Given the description of an element on the screen output the (x, y) to click on. 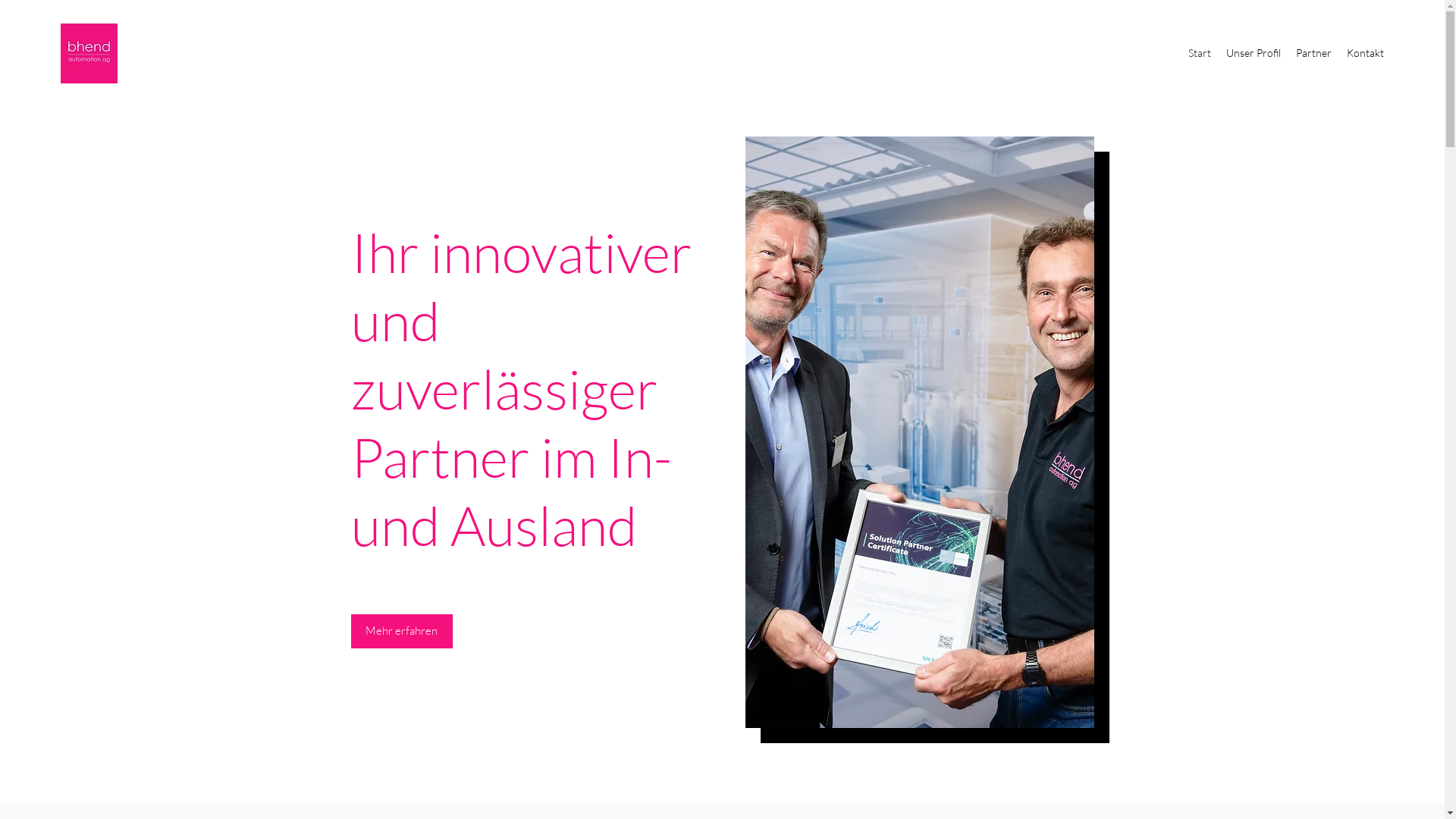
Kontakt Element type: text (1365, 52)
Start Element type: text (1199, 52)
Unser Profil Element type: text (1253, 52)
Partner Element type: text (1313, 52)
Mehr erfahren Element type: text (400, 631)
